Given the description of an element on the screen output the (x, y) to click on. 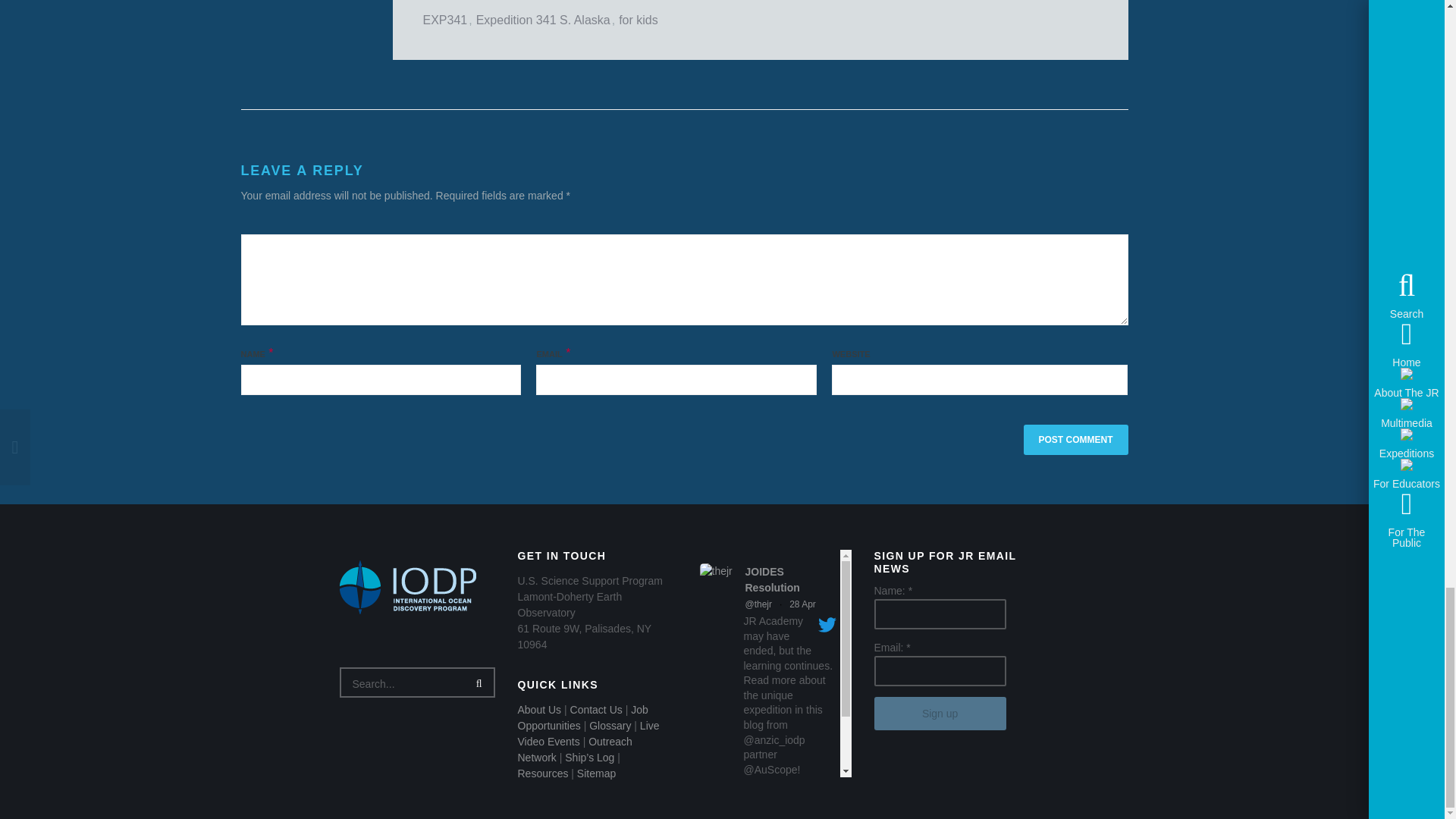
About Us (538, 709)
for kids (638, 19)
Contact Us (596, 709)
Post Comment (1075, 440)
Sign up (939, 713)
Expedition 341 S. Alaska (543, 19)
Post Comment (1075, 440)
EXP341 (445, 19)
